Given the description of an element on the screen output the (x, y) to click on. 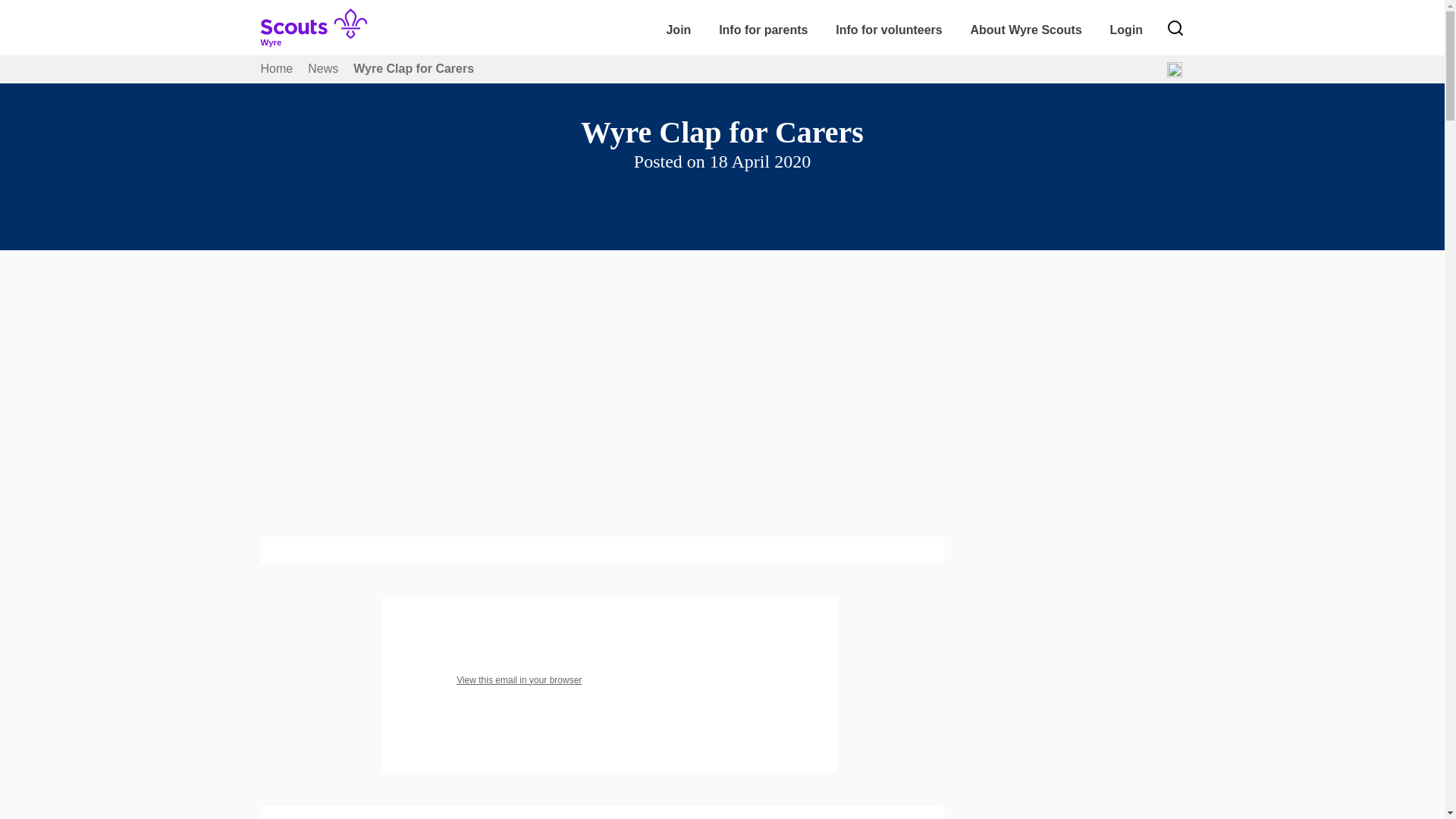
Info for volunteers (888, 29)
About Wyre Scouts (1025, 29)
Wyre Clap for Carers (413, 68)
Info for parents (763, 29)
Wyre (320, 38)
Home (277, 68)
